Given the description of an element on the screen output the (x, y) to click on. 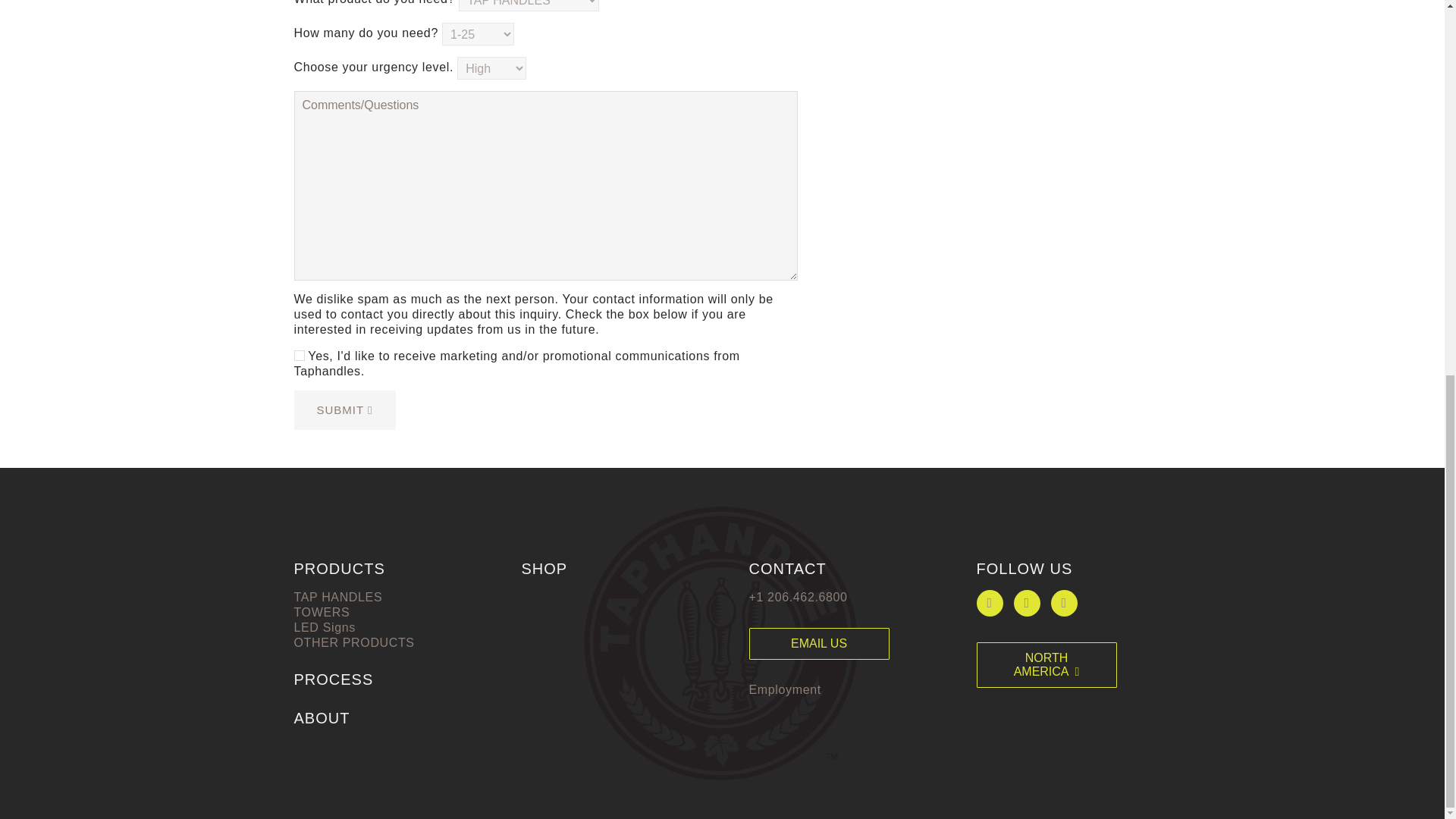
OTHER PRODUCTS (354, 642)
Yes, add to MailChimp subscription list. (299, 355)
Employment (785, 689)
PROCESS (334, 678)
SHOP (544, 568)
EMAIL US (819, 644)
NORTH AMERICA (1046, 664)
SUBMIT (345, 409)
LED Signs (324, 626)
TAP HANDLES (338, 596)
